Given the description of an element on the screen output the (x, y) to click on. 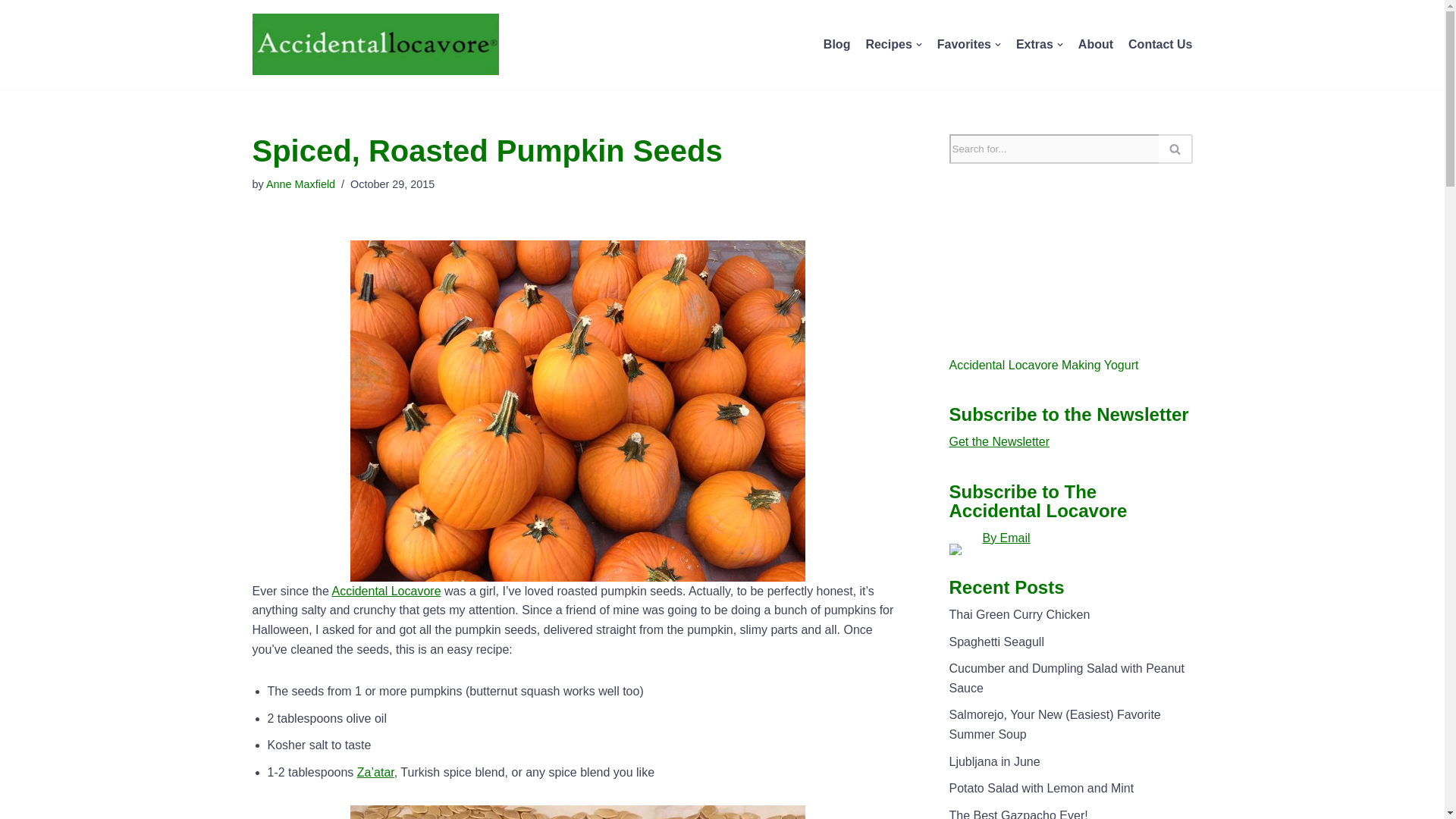
Blog (837, 44)
Posts by Anne Maxfield (300, 184)
Skip to content (11, 31)
Recipes (887, 44)
About (1095, 44)
Extras (1034, 44)
Favorites (964, 44)
Contact Us (1160, 44)
